Given the description of an element on the screen output the (x, y) to click on. 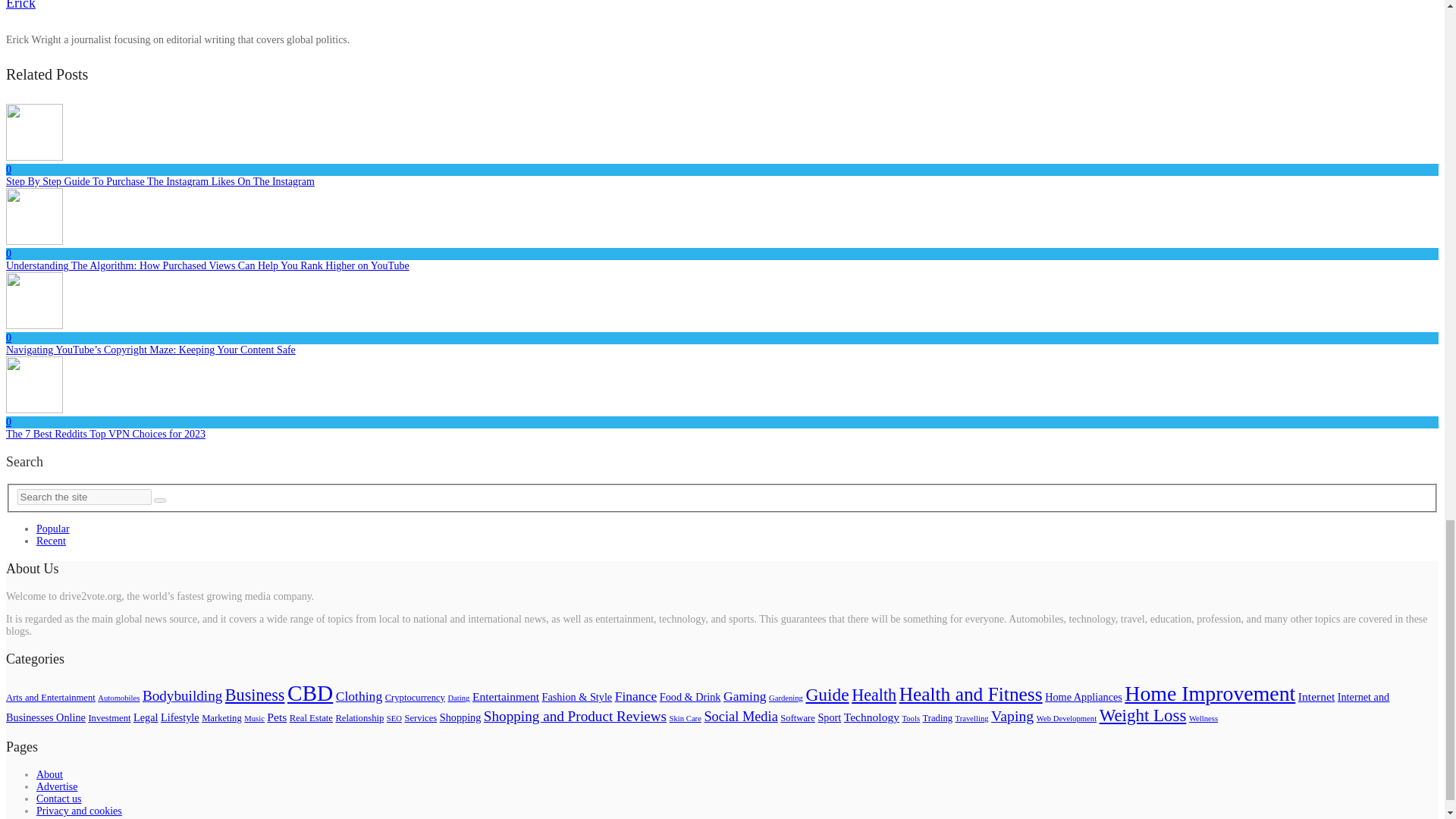
Recent (50, 541)
The 7 Best Reddits Top VPN Choices for 2023 (105, 433)
The 7 Best Reddits Top VPN Choices for 2023 (105, 433)
Automobiles (118, 697)
Arts and Entertainment (50, 697)
Erick (19, 4)
Popular (52, 528)
